Given the description of an element on the screen output the (x, y) to click on. 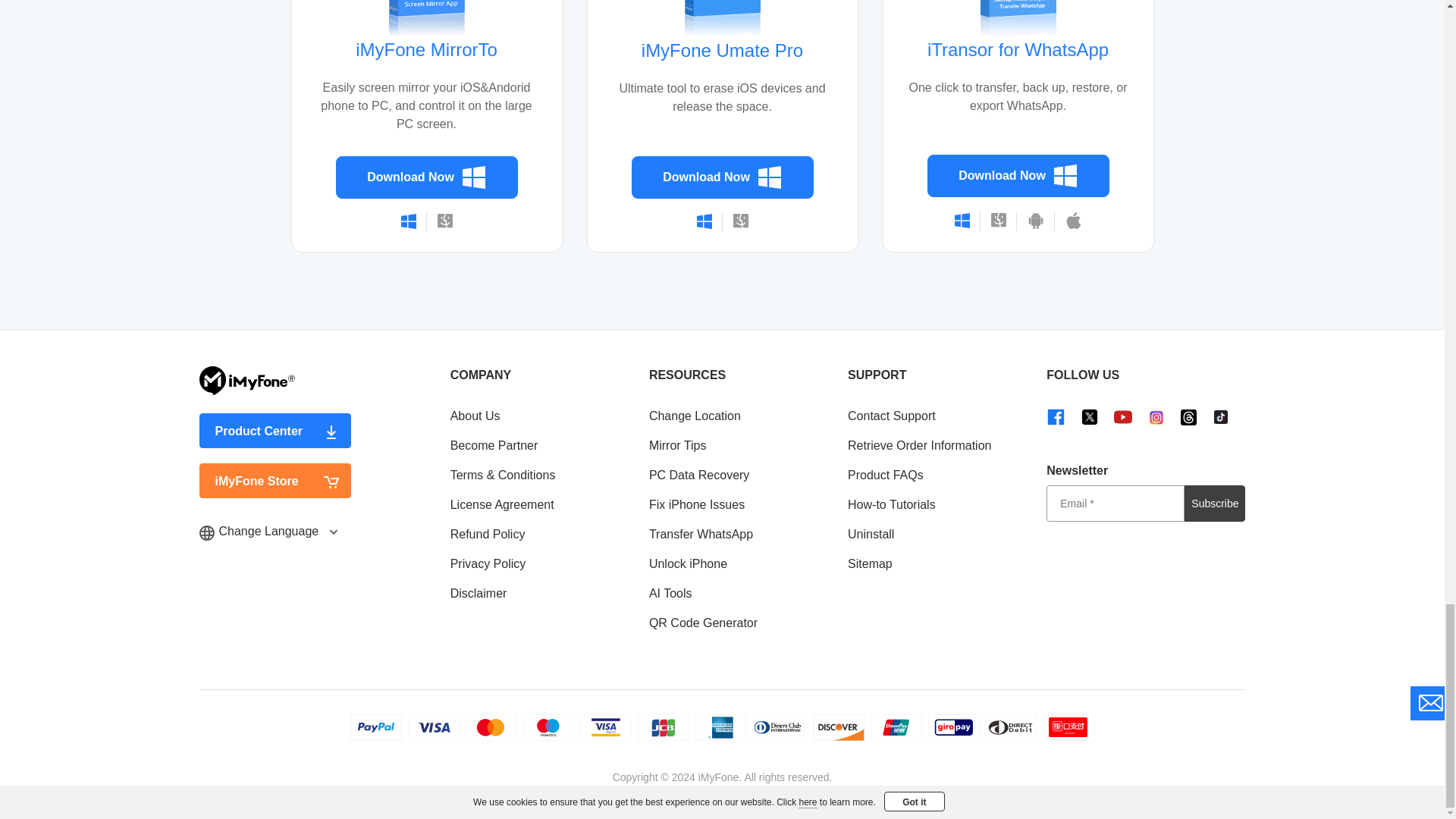
ins (1156, 416)
twitter (1089, 416)
tiktok (1220, 416)
youtube (1122, 416)
facebook (1055, 416)
